Given the description of an element on the screen output the (x, y) to click on. 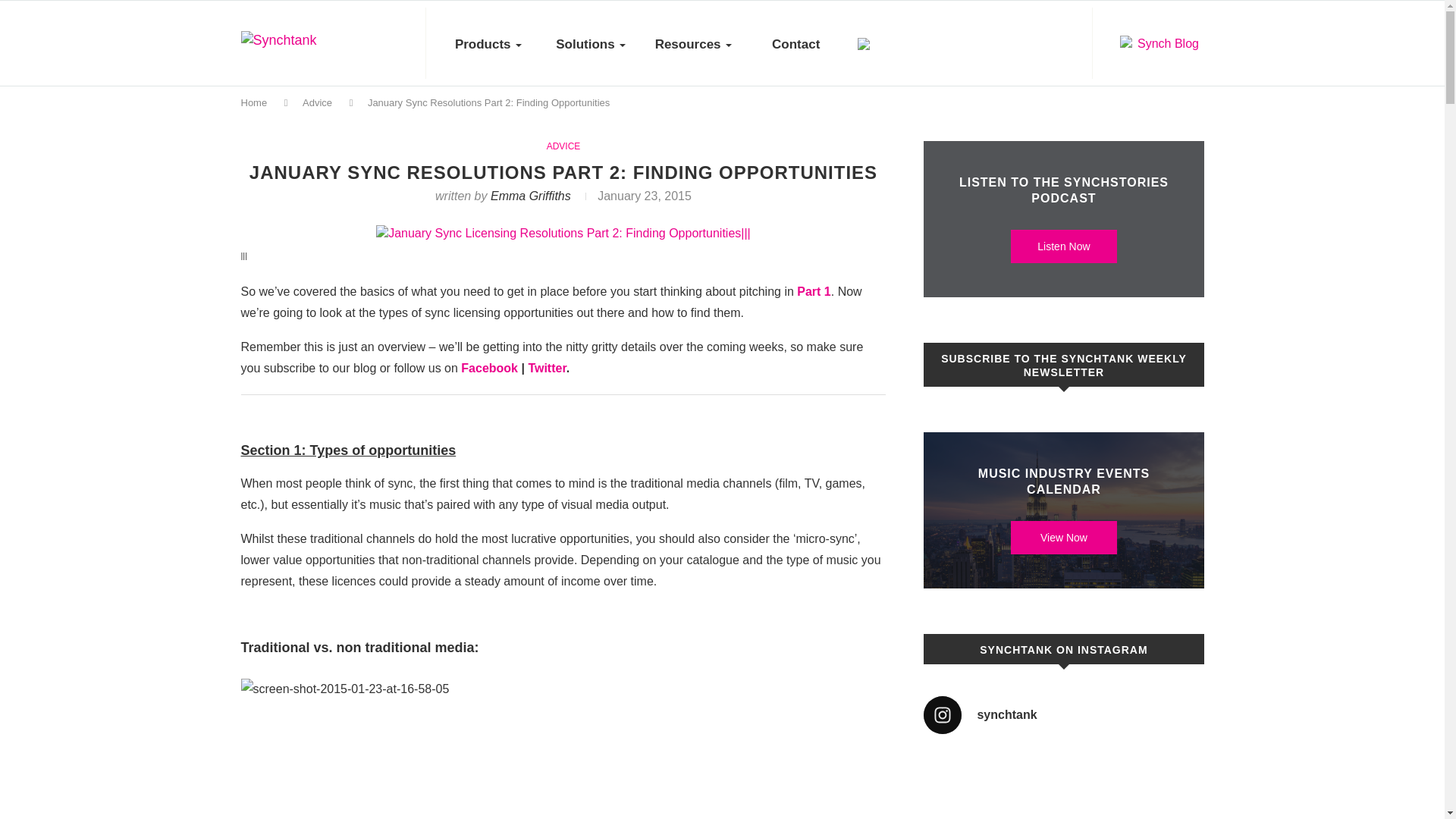
Contact (795, 43)
Solutions (591, 43)
Solutions (591, 43)
Resources (693, 43)
Resources (693, 43)
Products (487, 43)
Facebook (489, 367)
Emma Griffiths (530, 195)
Twitter (546, 367)
Part 1 (812, 291)
Contact (795, 43)
Advice (316, 102)
Synchtank (315, 46)
Products (487, 43)
Home (254, 102)
